Given the description of an element on the screen output the (x, y) to click on. 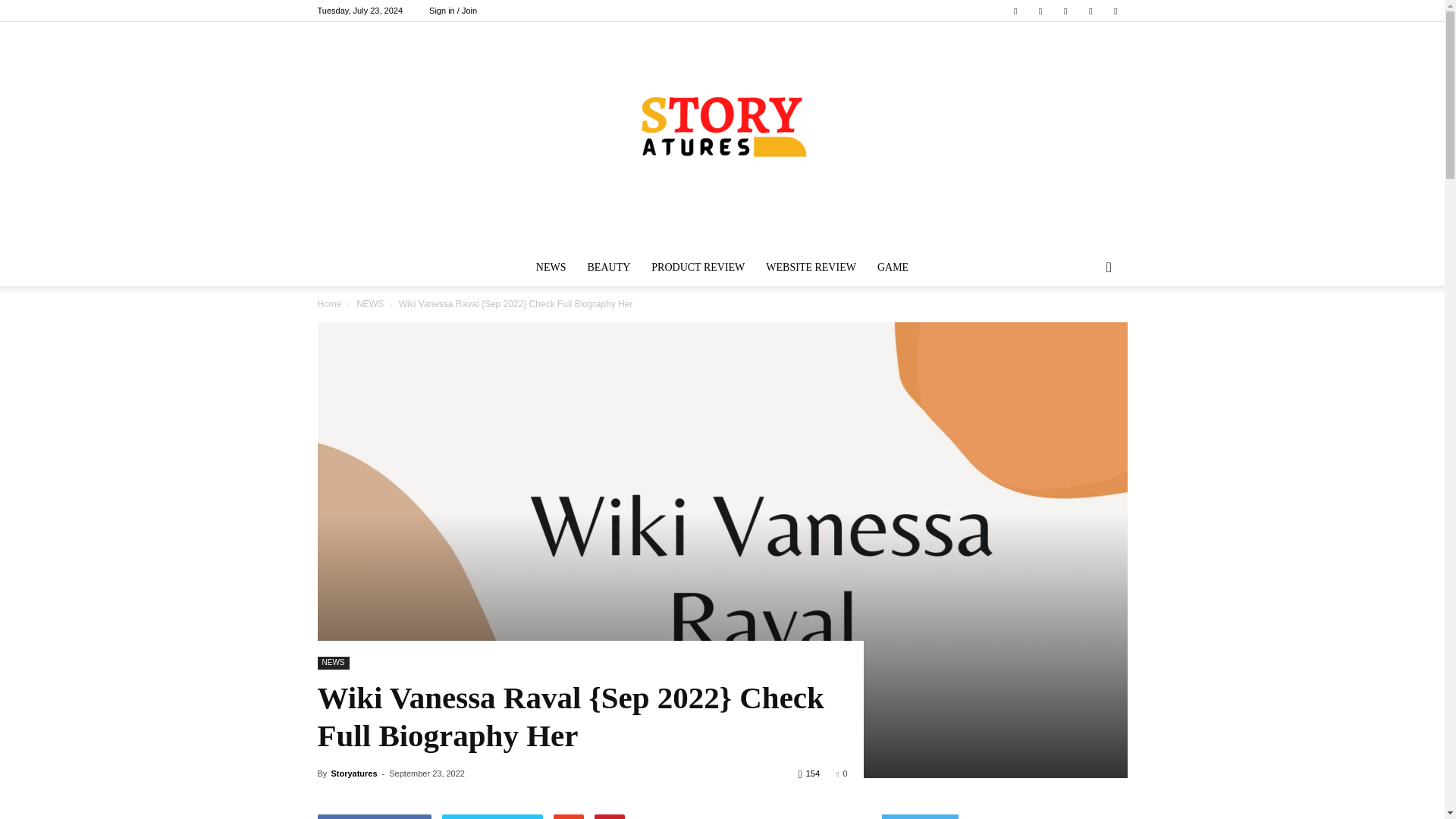
View all posts in NEWS (370, 303)
Youtube (1114, 10)
NEWS (550, 267)
Home (328, 303)
Twitter (1040, 10)
GAME (892, 267)
BEAUTY (609, 267)
Search (1085, 328)
WEBSITE REVIEW (810, 267)
Facebook (1015, 10)
VKontakte (1090, 10)
NEWS (370, 303)
Vimeo (1065, 10)
PRODUCT REVIEW (697, 267)
